Given the description of an element on the screen output the (x, y) to click on. 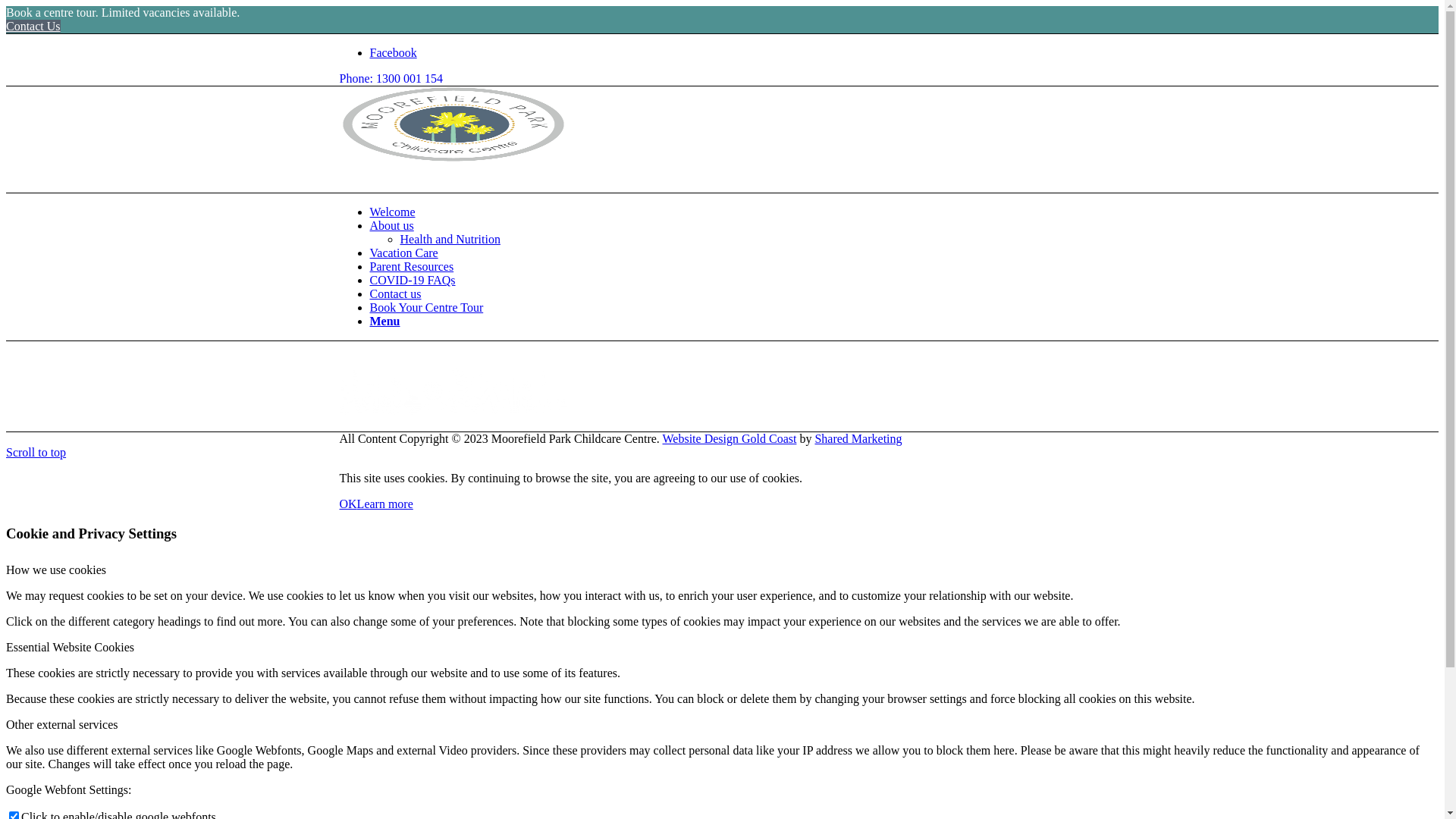
Phone: 1300 001 154 Element type: text (390, 78)
Website Design Gold Coast Element type: text (729, 438)
Health and Nutrition Element type: text (450, 238)
Vacation Care Element type: text (404, 252)
OK Element type: text (348, 503)
Menu Element type: text (385, 320)
Welcome Element type: text (392, 211)
Learn more Element type: text (385, 503)
COVID-19 FAQs Element type: text (412, 279)
Parent Resources Element type: text (412, 266)
Scroll to top Element type: text (35, 451)
Contact us Element type: text (395, 293)
Contact Us Element type: text (33, 25)
Book Your Centre Tour Element type: text (426, 307)
Shared Marketing Element type: text (857, 438)
About us Element type: text (392, 225)
Facebook Element type: text (393, 52)
